Given the description of an element on the screen output the (x, y) to click on. 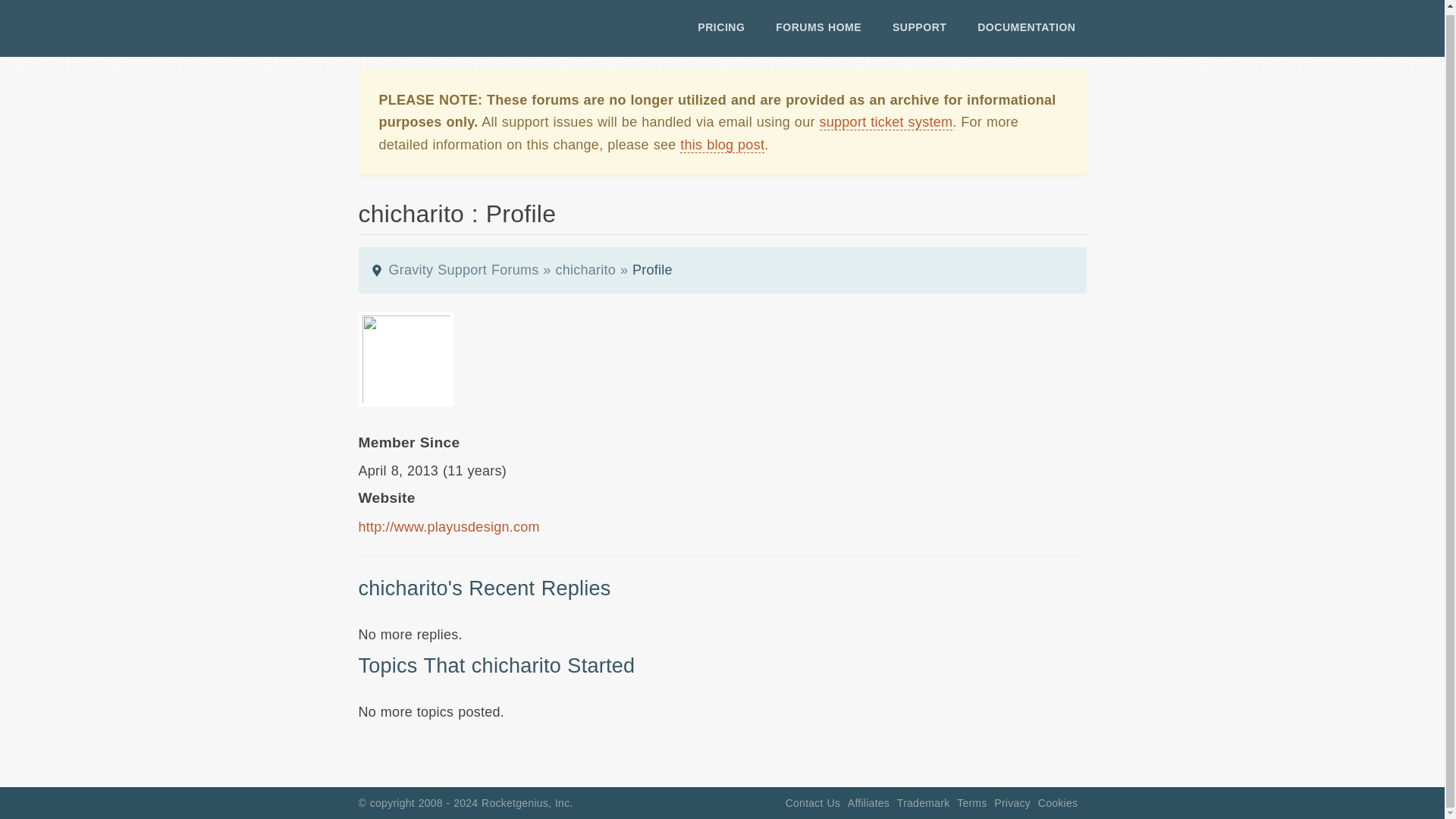
PRICING (721, 26)
Affiliates (868, 802)
Rocketgenius, Inc. (527, 802)
Cookies (1057, 802)
SUPPORT (919, 26)
Privacy (1012, 802)
FORUMS HOME (818, 26)
Terms (971, 802)
chicharito (584, 269)
DOCUMENTATION (1026, 26)
Trademark (923, 802)
support ticket system (885, 122)
Contact Us (813, 802)
this blog post (721, 145)
Gravity Support Forums (463, 269)
